Given the description of an element on the screen output the (x, y) to click on. 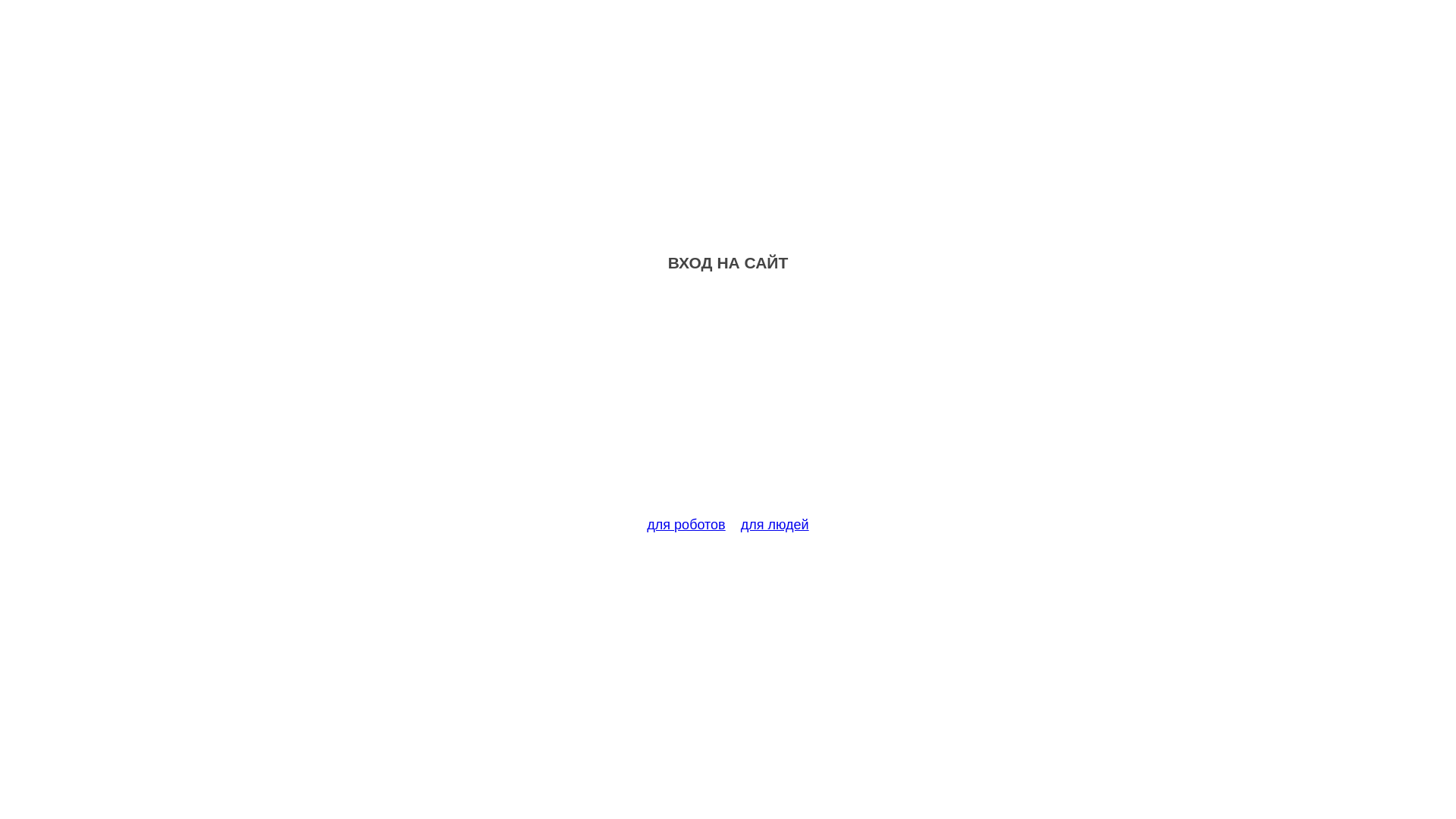
Advertisement Element type: hover (727, 403)
